Given the description of an element on the screen output the (x, y) to click on. 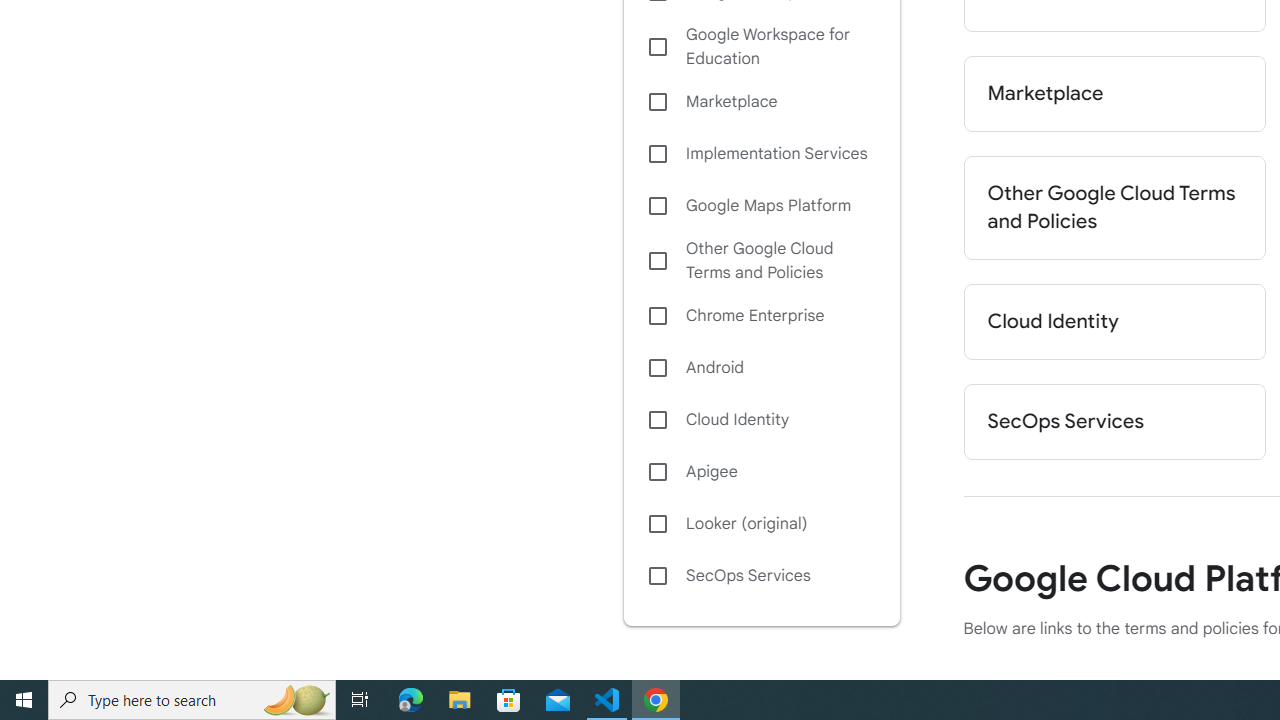
Android (761, 367)
